Given the description of an element on the screen output the (x, y) to click on. 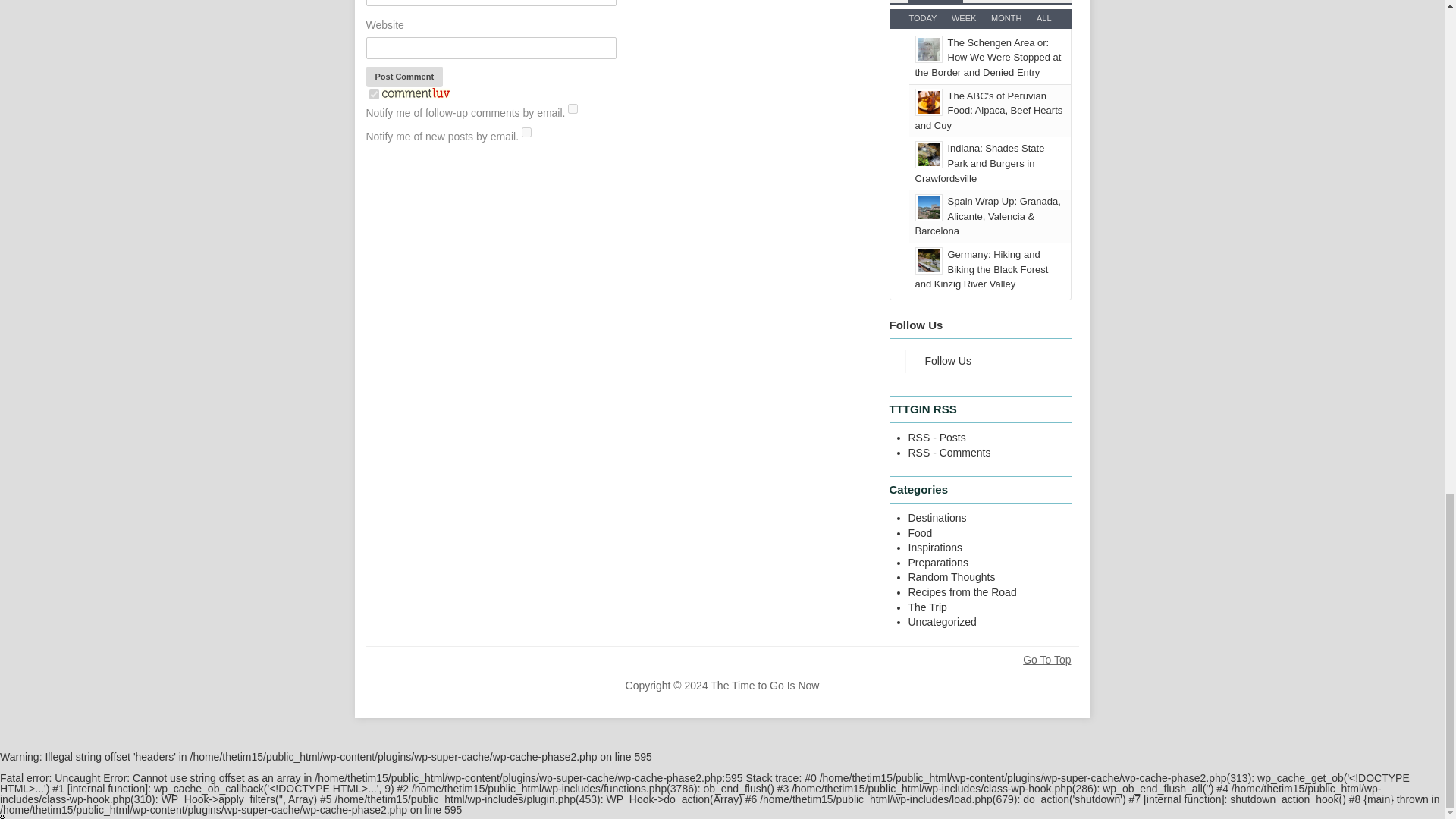
TODAY (922, 17)
CommentLuv is enabled (414, 95)
on (373, 94)
Post Comment (403, 76)
subscribe (526, 132)
Post Comment (403, 76)
POPULAR (935, 2)
LATEST (987, 2)
subscribe (572, 108)
